Given the description of an element on the screen output the (x, y) to click on. 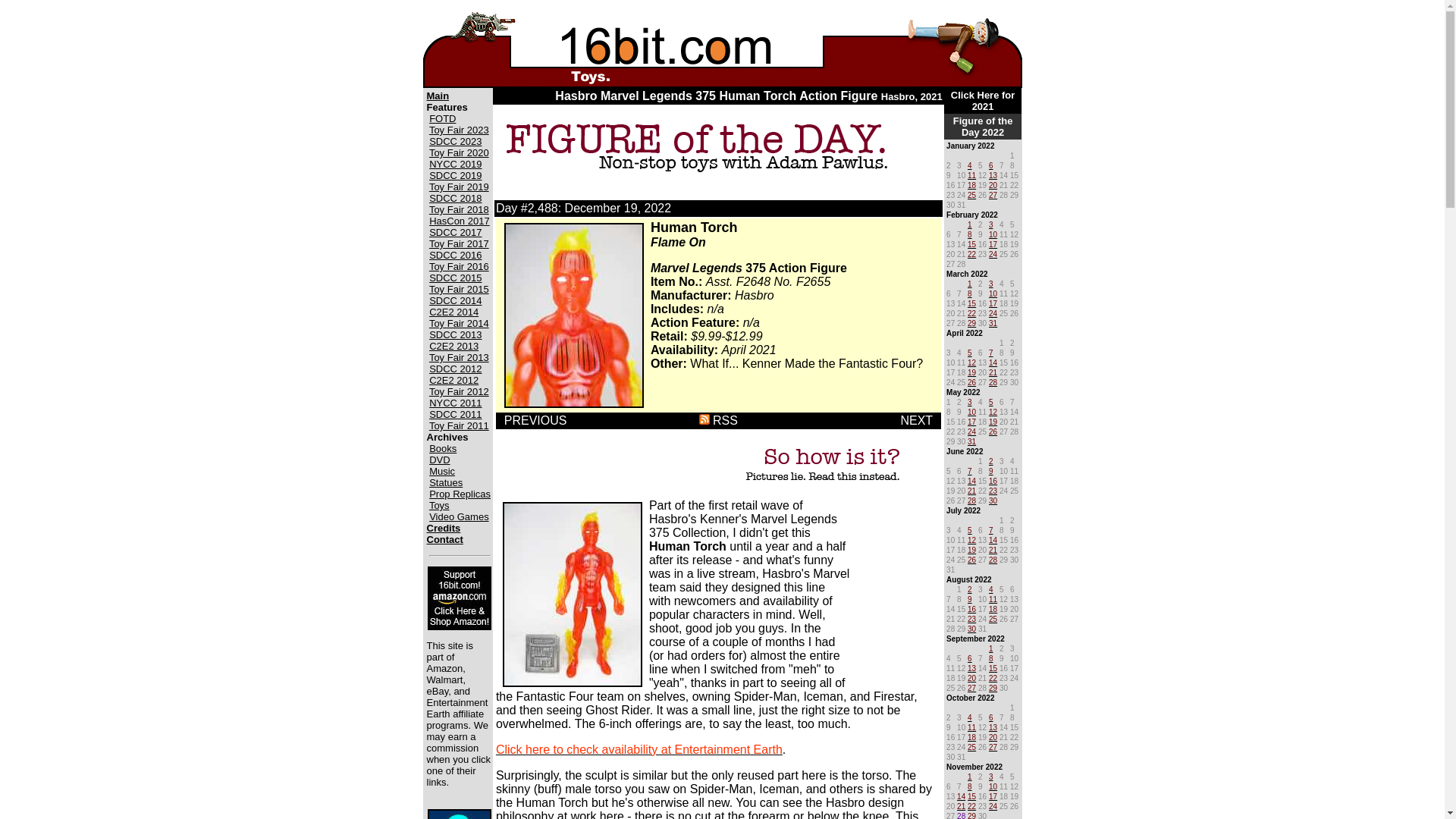
NYCC 2011 (455, 402)
Toy Fair 2023 (459, 129)
Statues (446, 482)
Books (443, 448)
Toy Fair 2016 (459, 266)
HasCon 2017 (459, 220)
SDCC 2013 (455, 334)
Video Games (459, 516)
Toy Fair 2014 (459, 323)
FOTD (442, 118)
NYCC 2019 (455, 163)
Toy Fair 2011 (459, 425)
Toy Fair 2019 (459, 186)
Toy Fair 2017 (459, 243)
SDCC 2016 (455, 255)
